Given the description of an element on the screen output the (x, y) to click on. 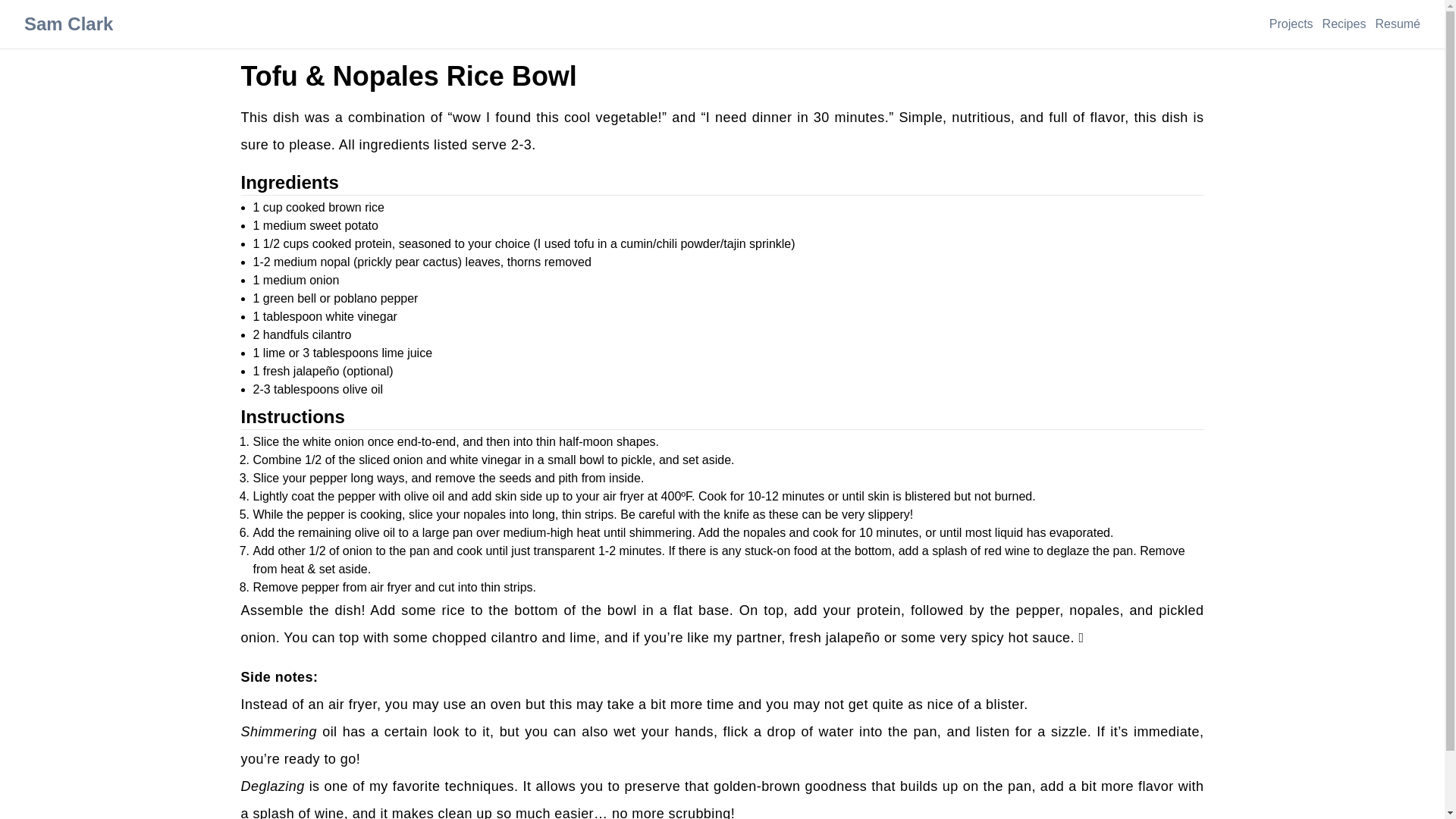
Projects (1291, 24)
Sam Clark (68, 23)
Recipes (1344, 24)
